Given the description of an element on the screen output the (x, y) to click on. 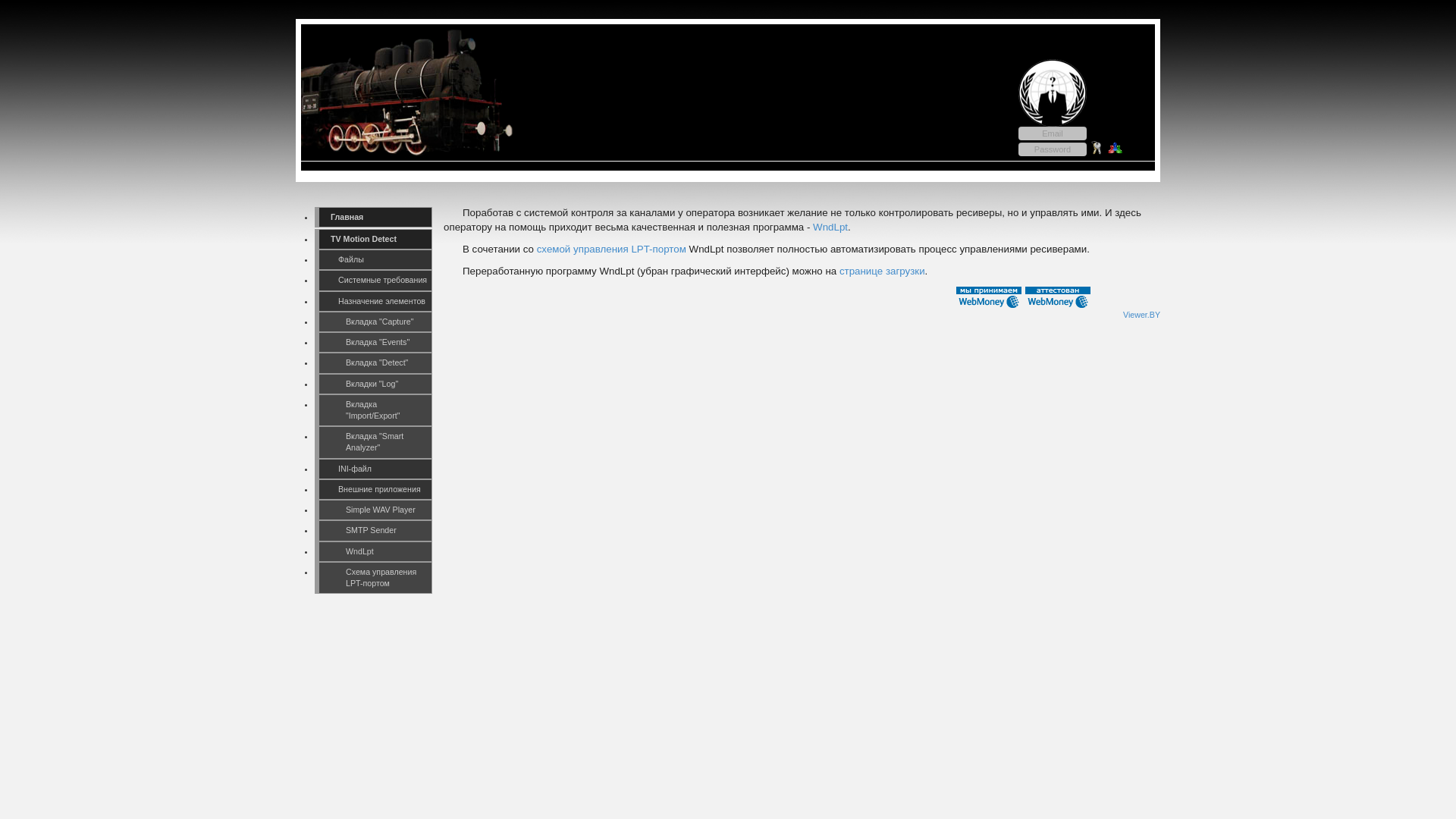
Simple WAV Player Element type: text (373, 509)
WndLpt Element type: text (373, 551)
TV Motion Detect Element type: text (373, 239)
SMTP Sender Element type: text (373, 530)
Viewer.BY Element type: text (1141, 314)
WndLpt Element type: text (829, 226)
Enter email Element type: hover (1052, 133)
Password Element type: hover (1052, 149)
